Given the description of an element on the screen output the (x, y) to click on. 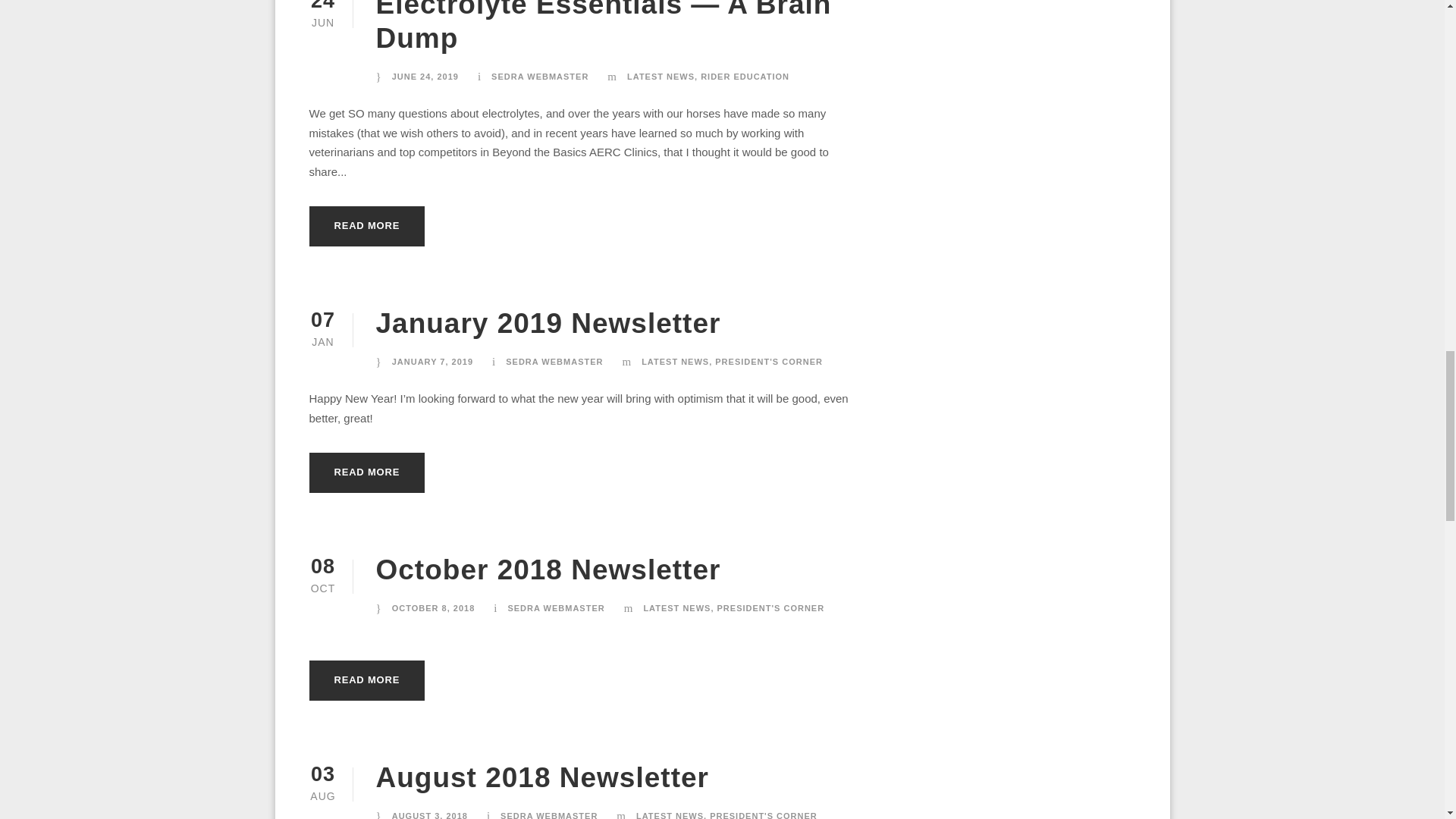
Posts by SEDRA Webmaster (540, 76)
Posts by SEDRA Webmaster (548, 815)
Posts by SEDRA Webmaster (555, 607)
Posts by SEDRA Webmaster (553, 361)
